Given the description of an element on the screen output the (x, y) to click on. 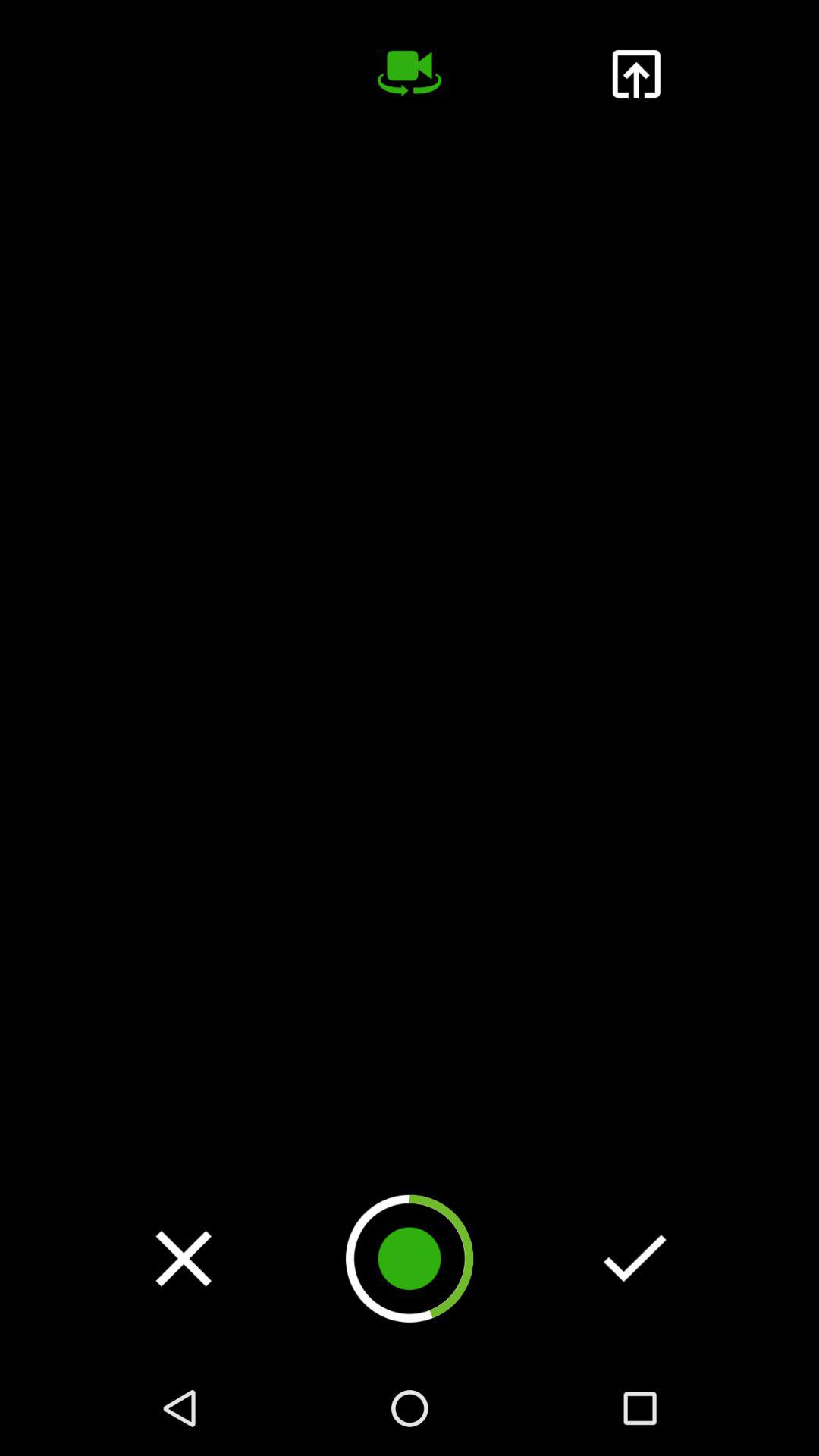
cancel this item (183, 1258)
